Given the description of an element on the screen output the (x, y) to click on. 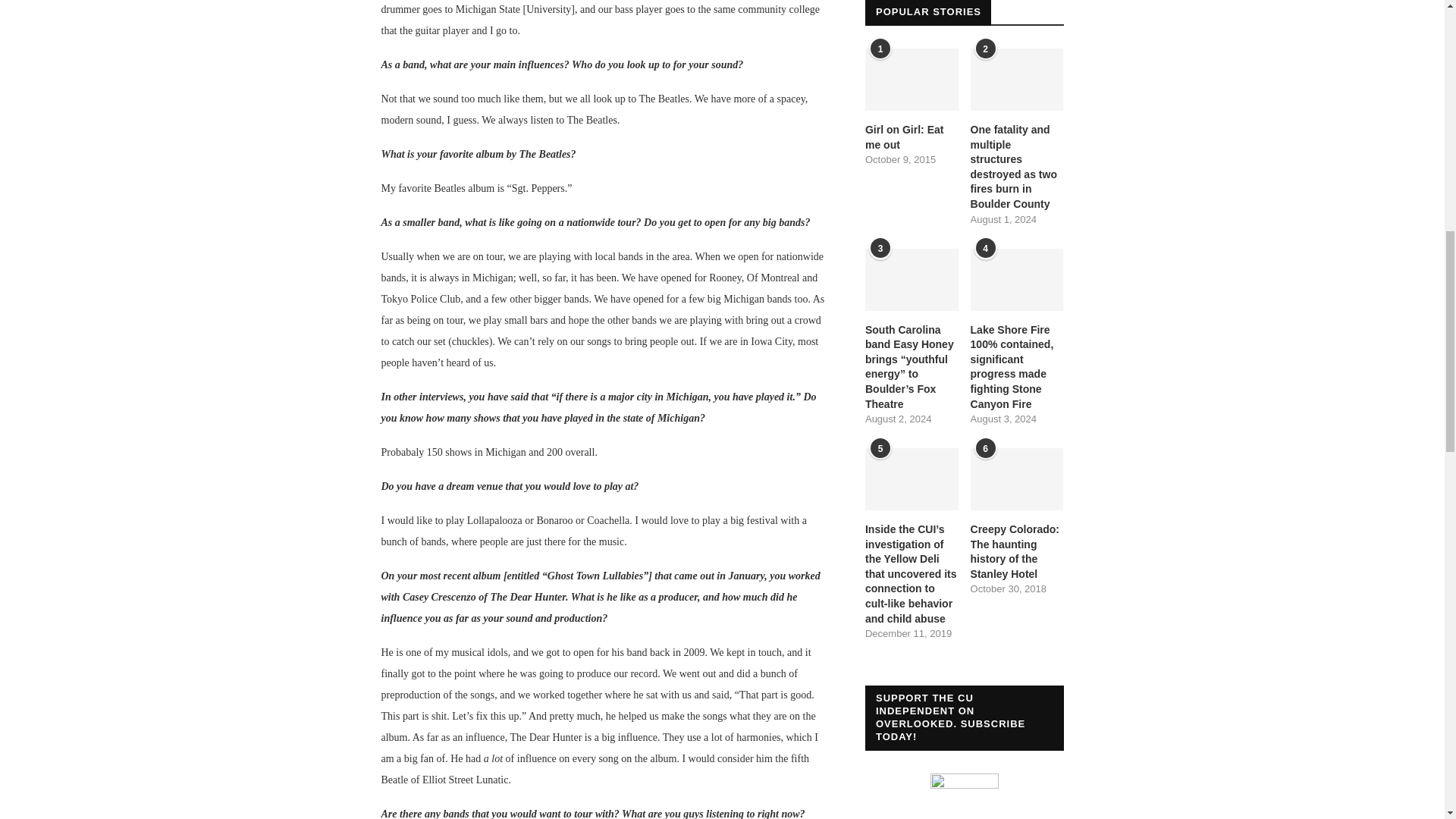
Girl on Girl: Eat me out (911, 79)
Girl on Girl: Eat me out (911, 137)
